Given the description of an element on the screen output the (x, y) to click on. 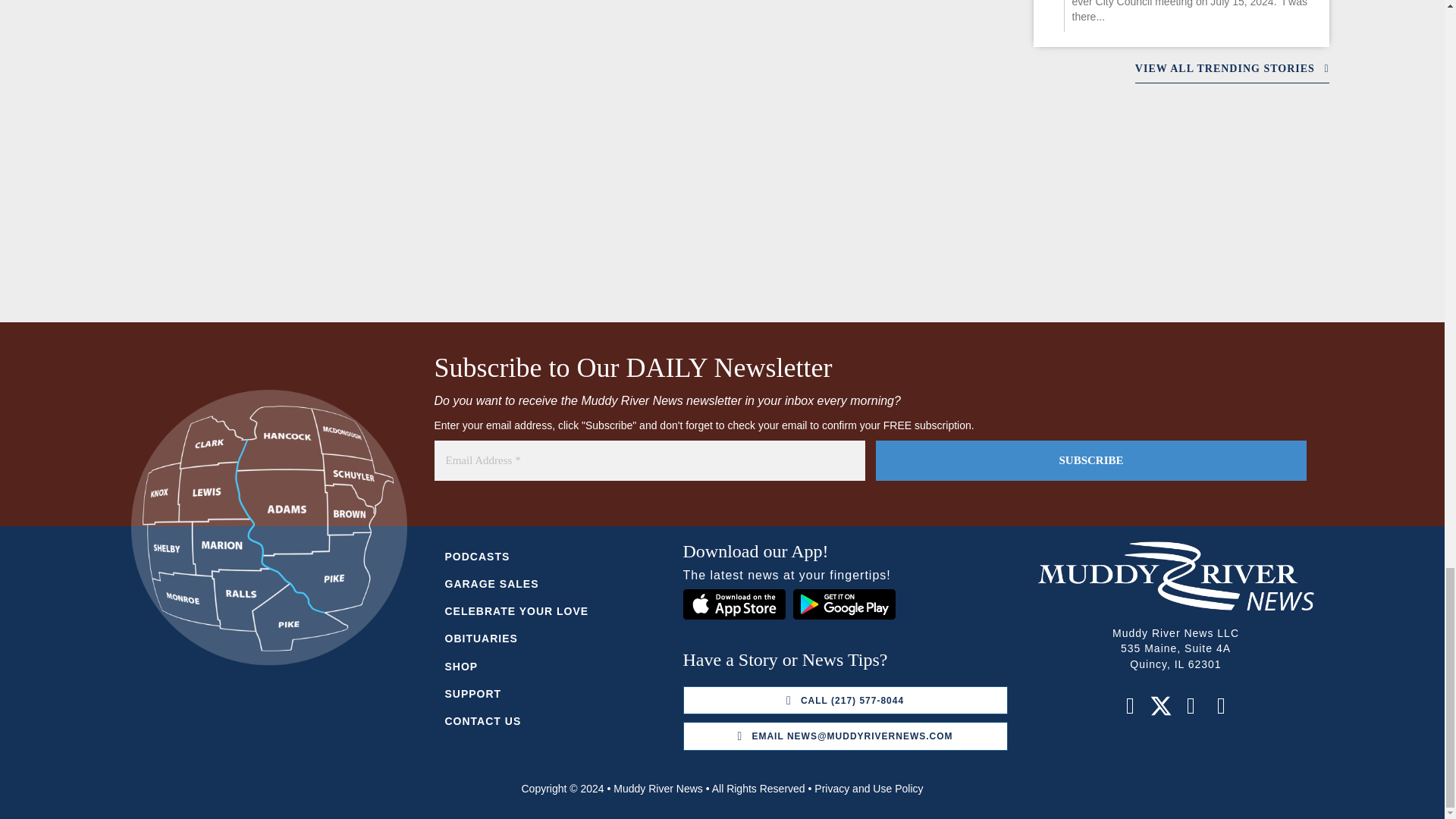
Email Address (648, 460)
mrn-coverage-area-map-sphere (268, 527)
SUBSCRIBE (1091, 460)
MRN-white (1174, 575)
Instagram (1190, 705)
YouTube (1221, 705)
Facebook (1130, 705)
